Given the description of an element on the screen output the (x, y) to click on. 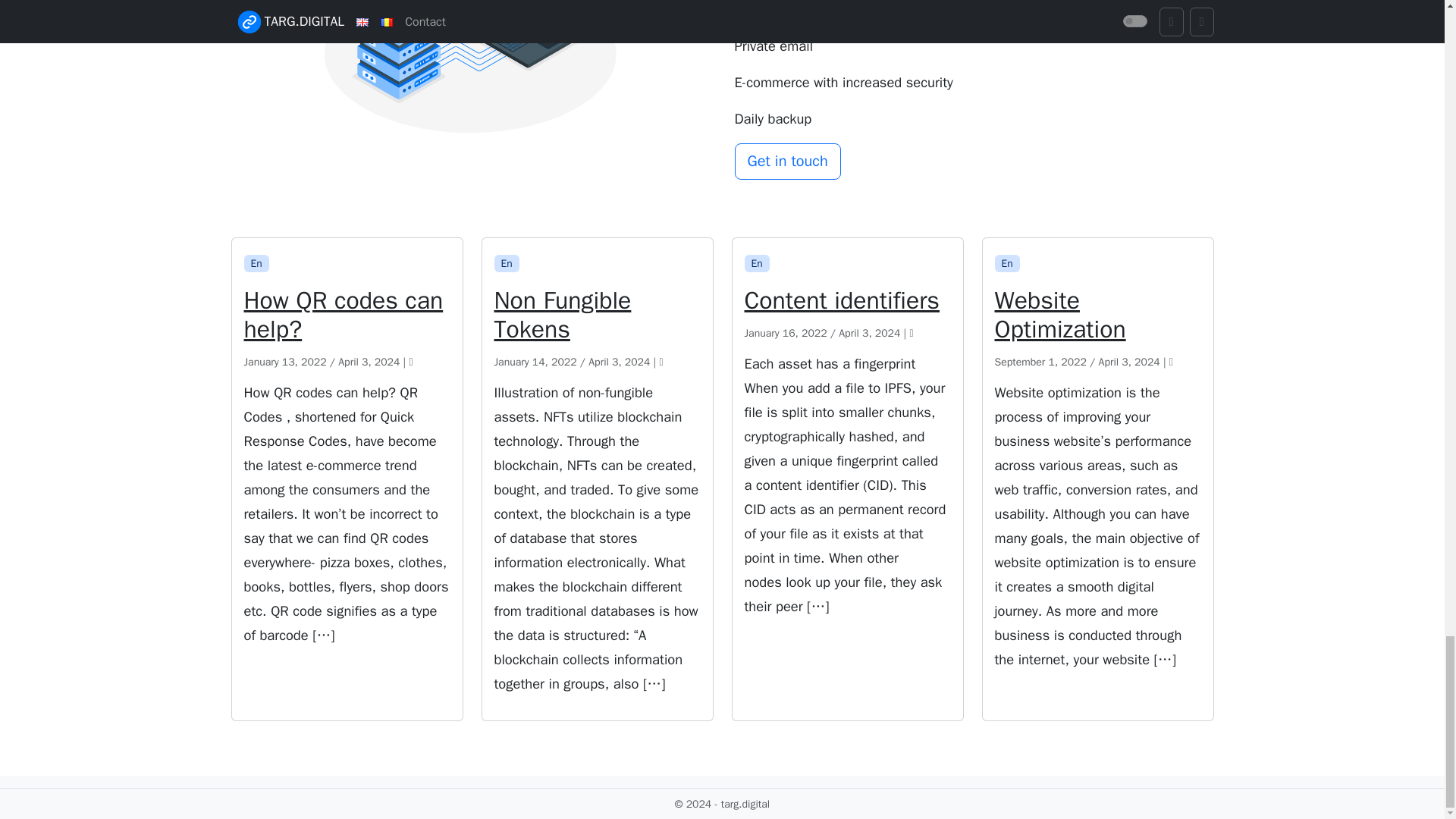
En (507, 262)
Content identifiers (847, 303)
En (1007, 262)
Non Fungible Tokens (597, 318)
En (256, 262)
En (757, 262)
Get in touch (786, 161)
How QR codes can help? (346, 318)
Website Optimization (1097, 318)
